Given the description of an element on the screen output the (x, y) to click on. 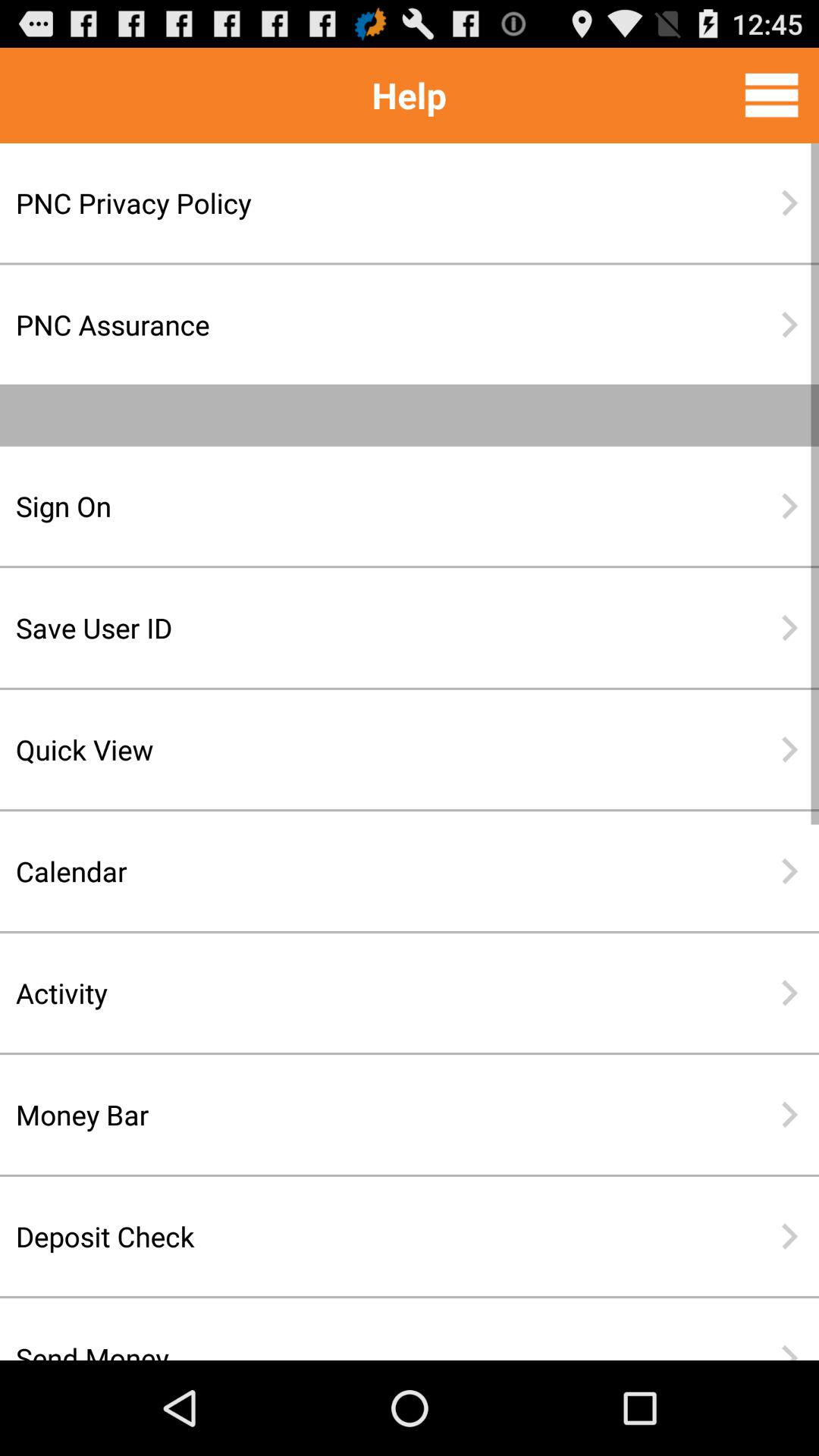
jump until the pnc assurance item (359, 324)
